Given the description of an element on the screen output the (x, y) to click on. 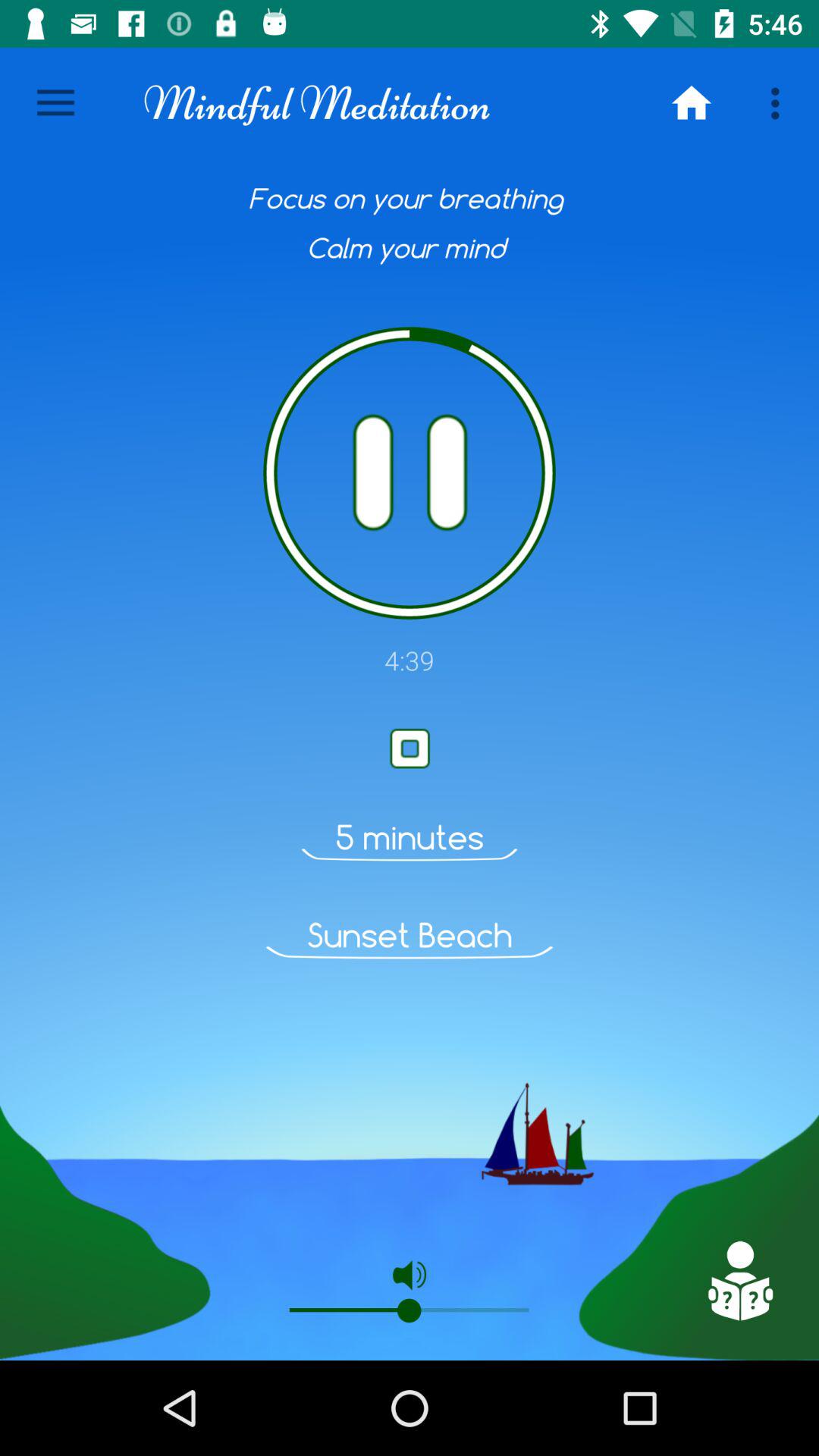
pause meditation audio (409, 472)
